Given the description of an element on the screen output the (x, y) to click on. 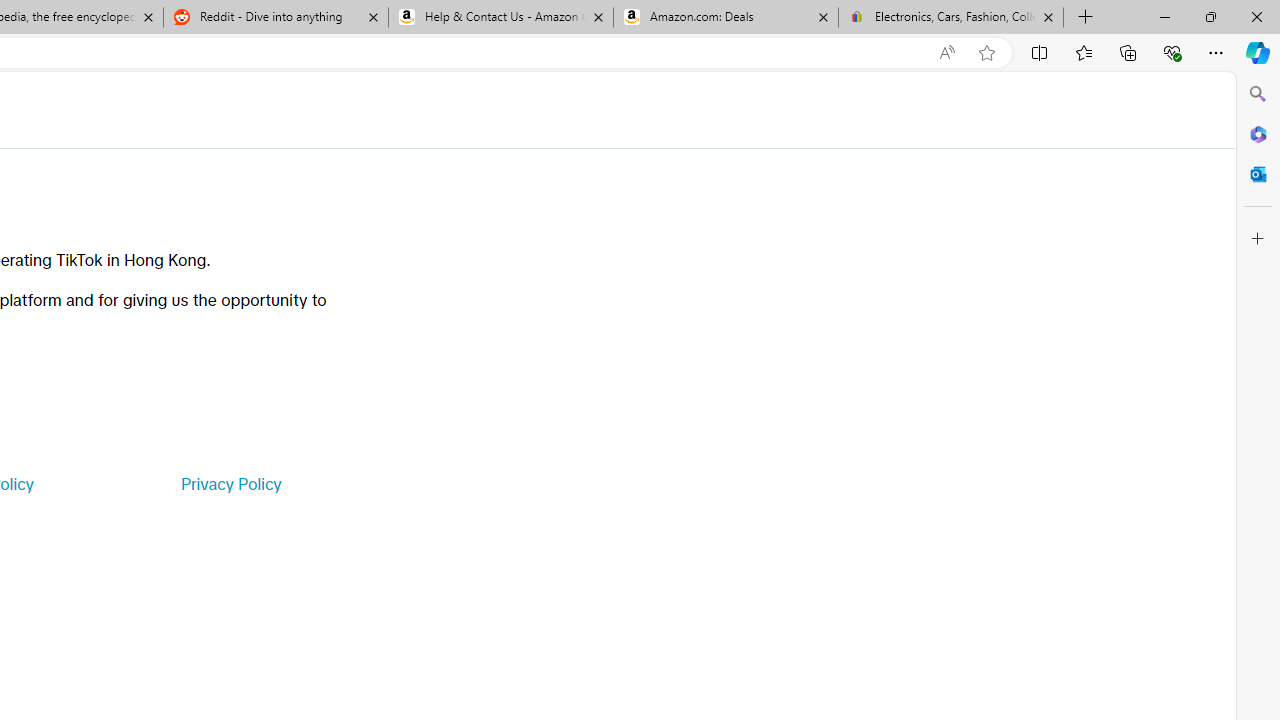
Help & Contact Us - Amazon Customer Service (501, 17)
